Given the description of an element on the screen output the (x, y) to click on. 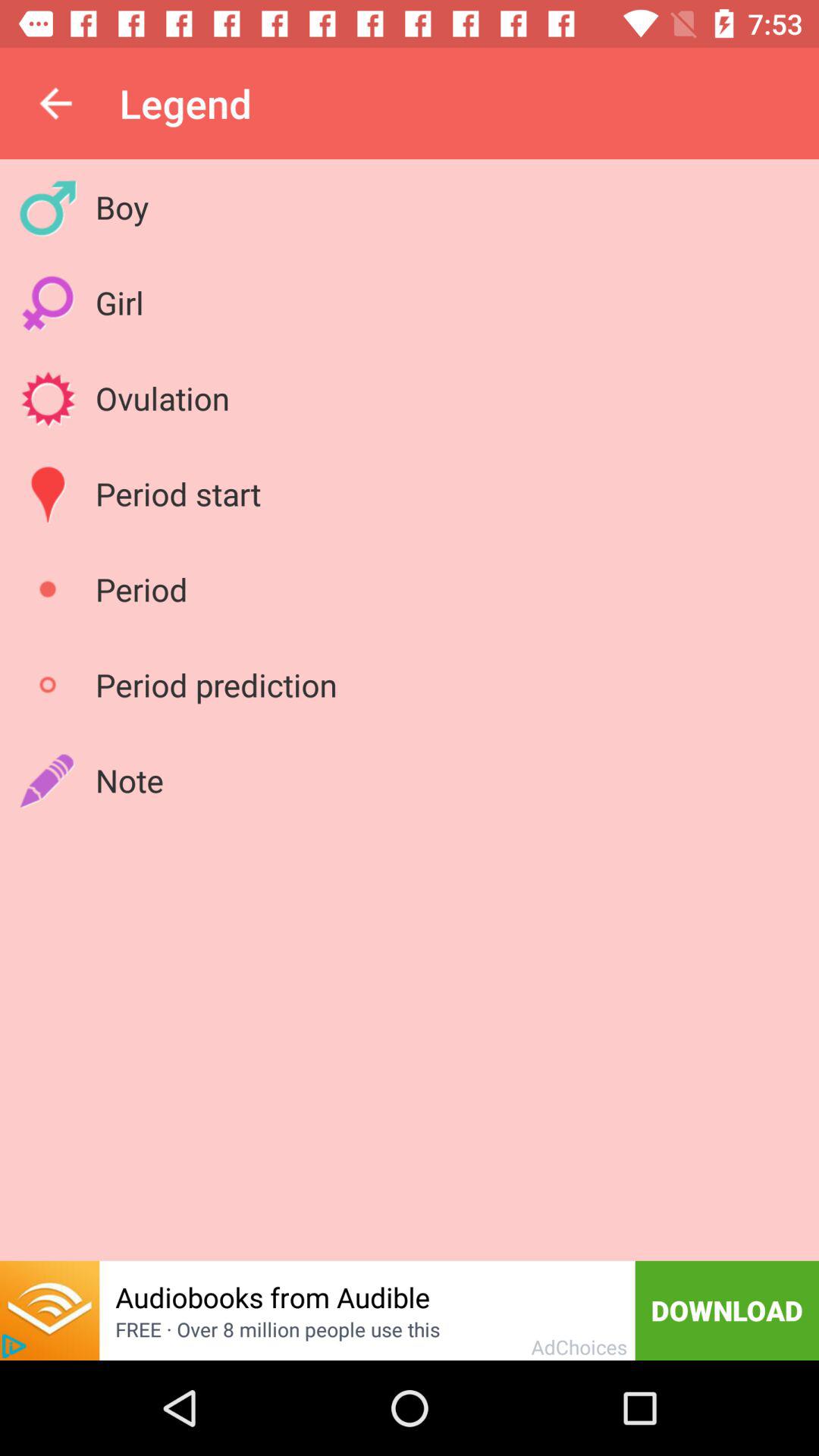
advertisement logo (14, 1346)
